Given the description of an element on the screen output the (x, y) to click on. 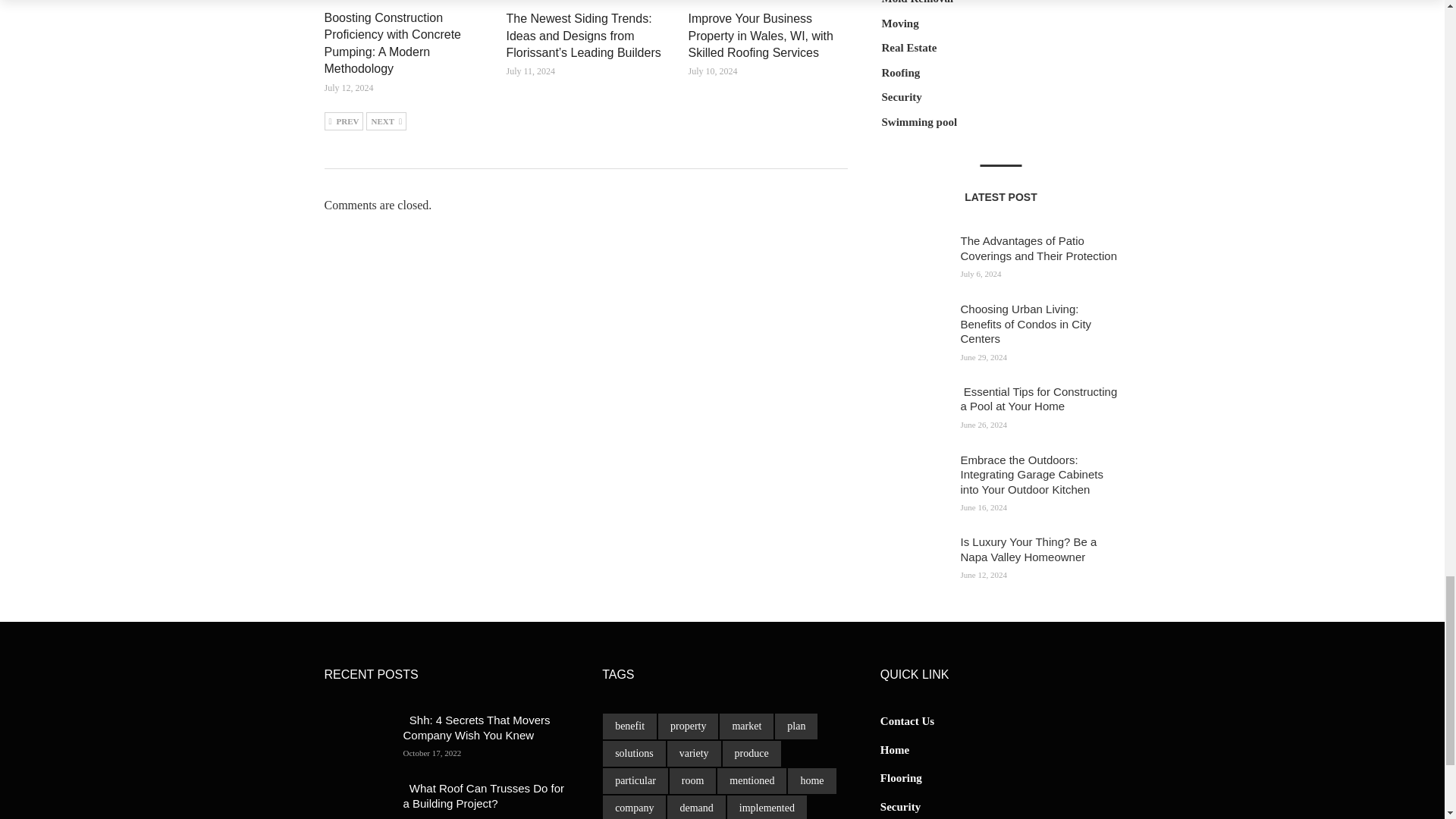
Next (386, 121)
Previous (344, 121)
